Given the description of an element on the screen output the (x, y) to click on. 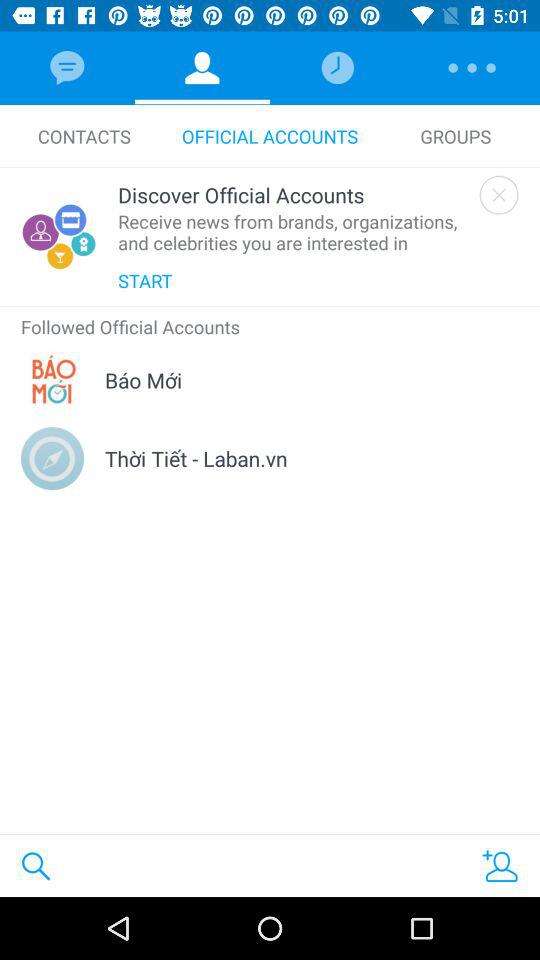
choose item next to official accounts item (84, 136)
